Given the description of an element on the screen output the (x, y) to click on. 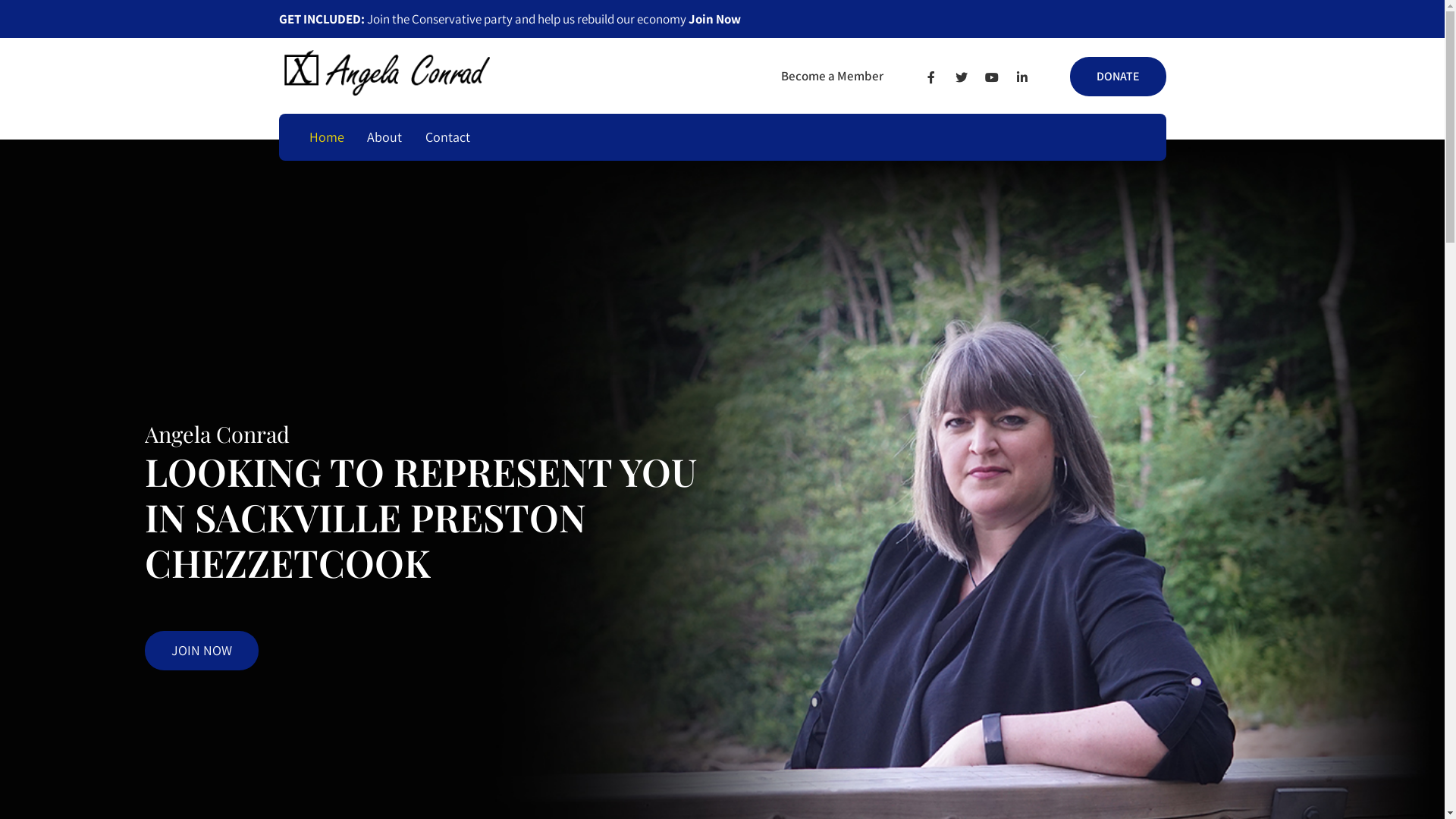
Home Element type: text (326, 136)
DONATE Element type: text (1117, 76)
Contact Element type: text (448, 136)
Join Now Element type: text (714, 18)
About Element type: text (384, 136)
Become a Member Element type: text (832, 75)
JOIN NOW Element type: text (200, 650)
